Given the description of an element on the screen output the (x, y) to click on. 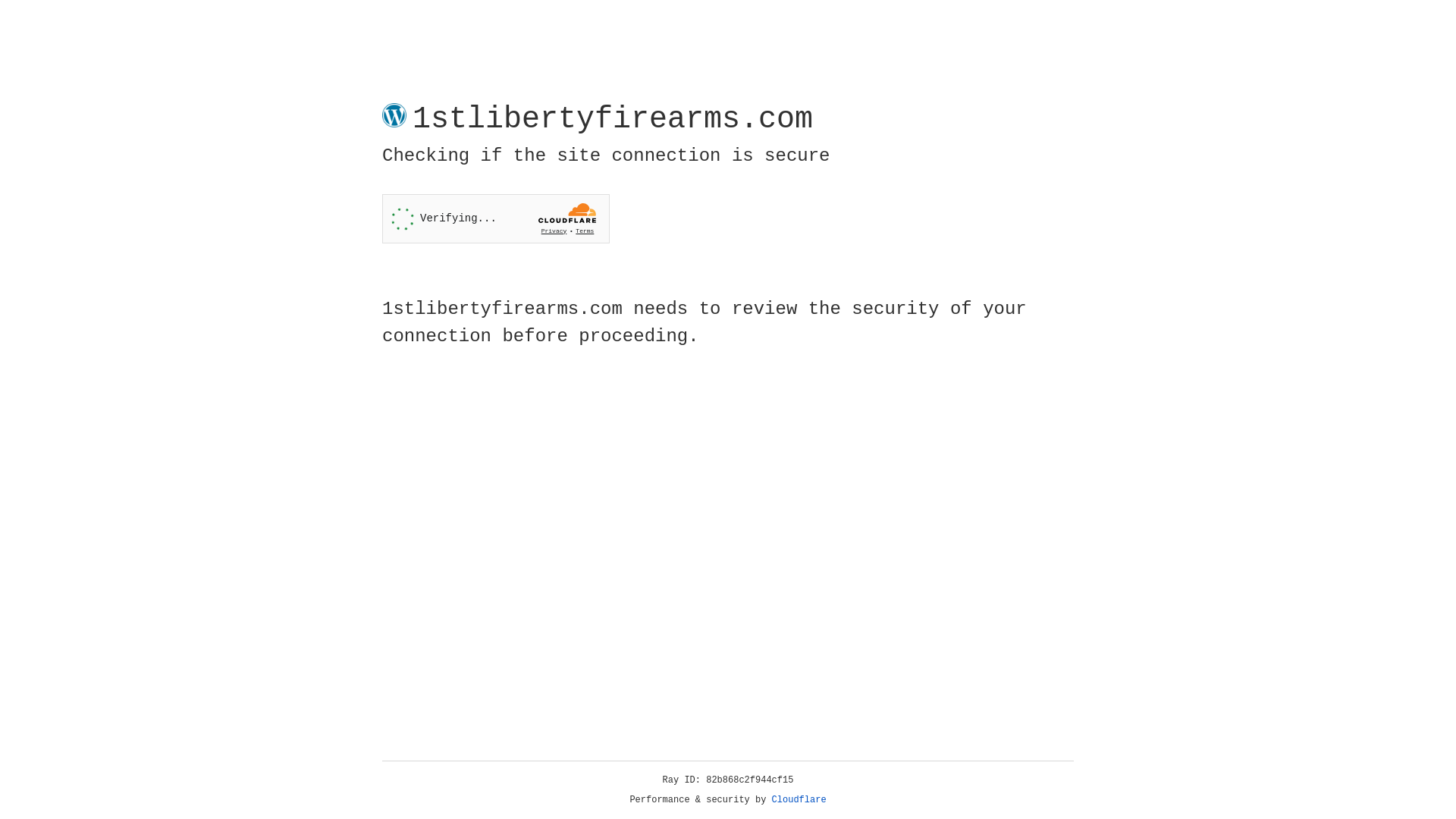
Cloudflare Element type: text (798, 799)
Widget containing a Cloudflare security challenge Element type: hover (495, 218)
